Given the description of an element on the screen output the (x, y) to click on. 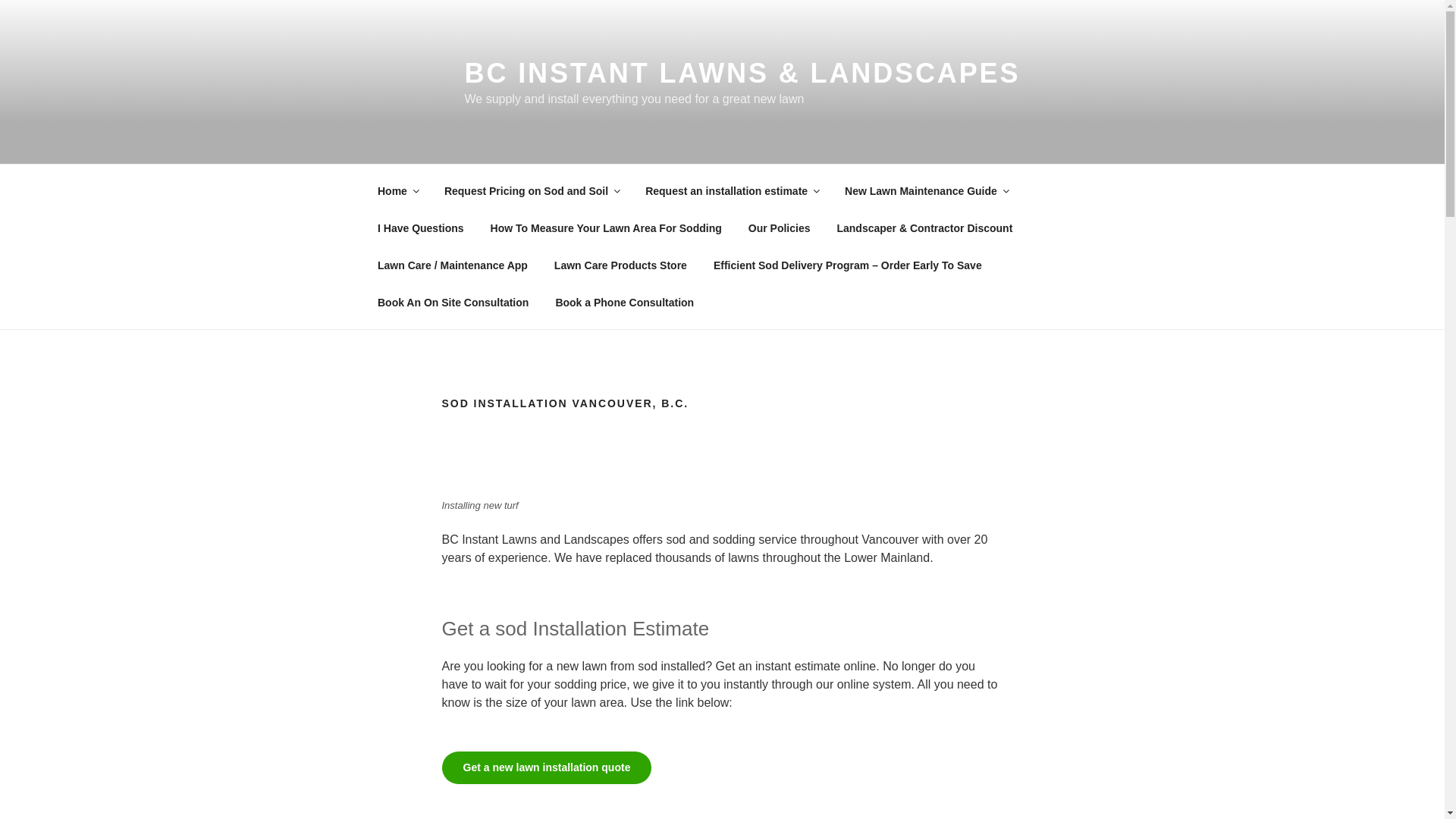
New Lawn Maintenance Guide (926, 190)
I Have Questions (420, 227)
How To Measure Your Lawn Area For Sodding (606, 227)
Book a Phone Consultation (624, 302)
Our Policies (779, 227)
Request Pricing on Sod and Soil (530, 190)
Request an installation estimate (731, 190)
Home (397, 190)
Book An On Site Consultation (452, 302)
Lawn Care Products Store (620, 265)
